Given the description of an element on the screen output the (x, y) to click on. 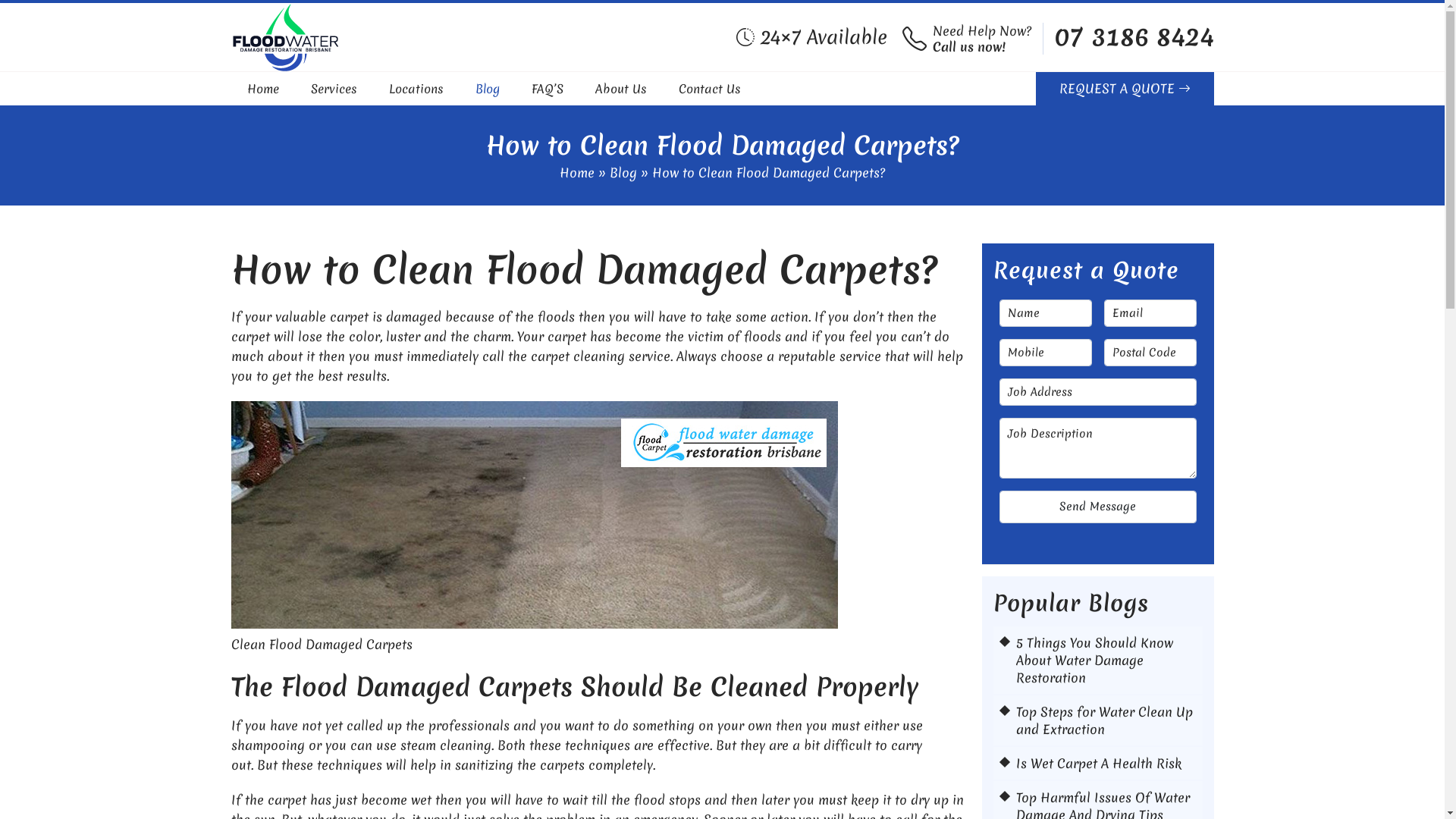
5 Things You Should Know About Water Damage Restoration Element type: text (1105, 659)
Send Message Element type: text (1097, 506)
Services Element type: text (333, 88)
REQUEST A QUOTE Element type: text (1124, 88)
Home Element type: text (576, 172)
Top Steps for Water Clean Up and Extraction Element type: text (1105, 719)
07 3186 8424 Element type: text (1133, 37)
Blog Element type: text (623, 172)
Home Element type: text (263, 88)
About Us Element type: text (620, 88)
Contact Us Element type: text (708, 88)
Is Wet Carpet A Health Risk Element type: text (1105, 762)
Locations Element type: text (415, 88)
Blog Element type: text (486, 88)
